Given the description of an element on the screen output the (x, y) to click on. 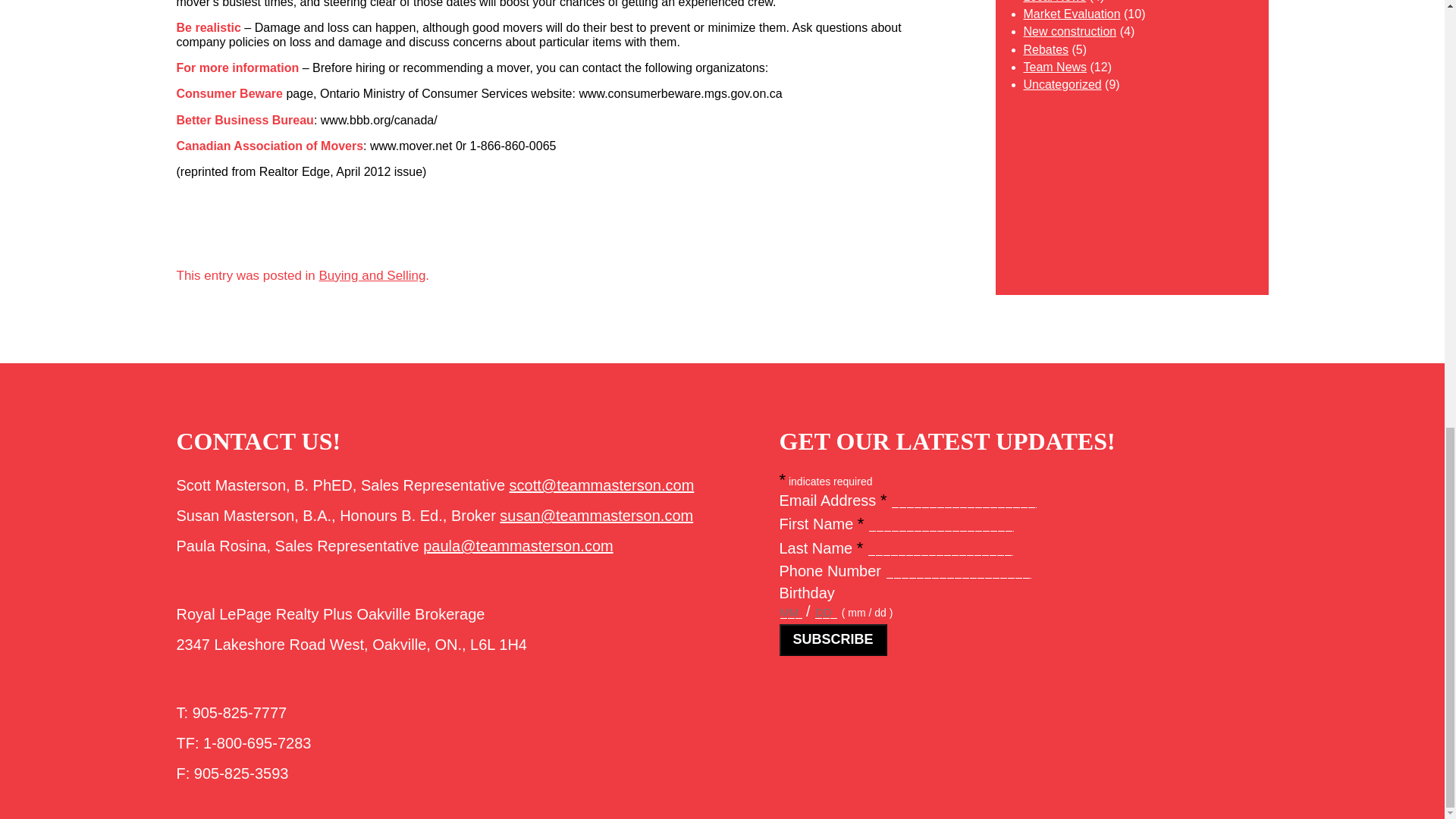
Team News (1055, 66)
Market Evaluation (1072, 13)
New construction (1069, 31)
Rebates (1045, 49)
Subscribe (832, 640)
Buying and Selling (372, 275)
Local News (1054, 1)
